Given the description of an element on the screen output the (x, y) to click on. 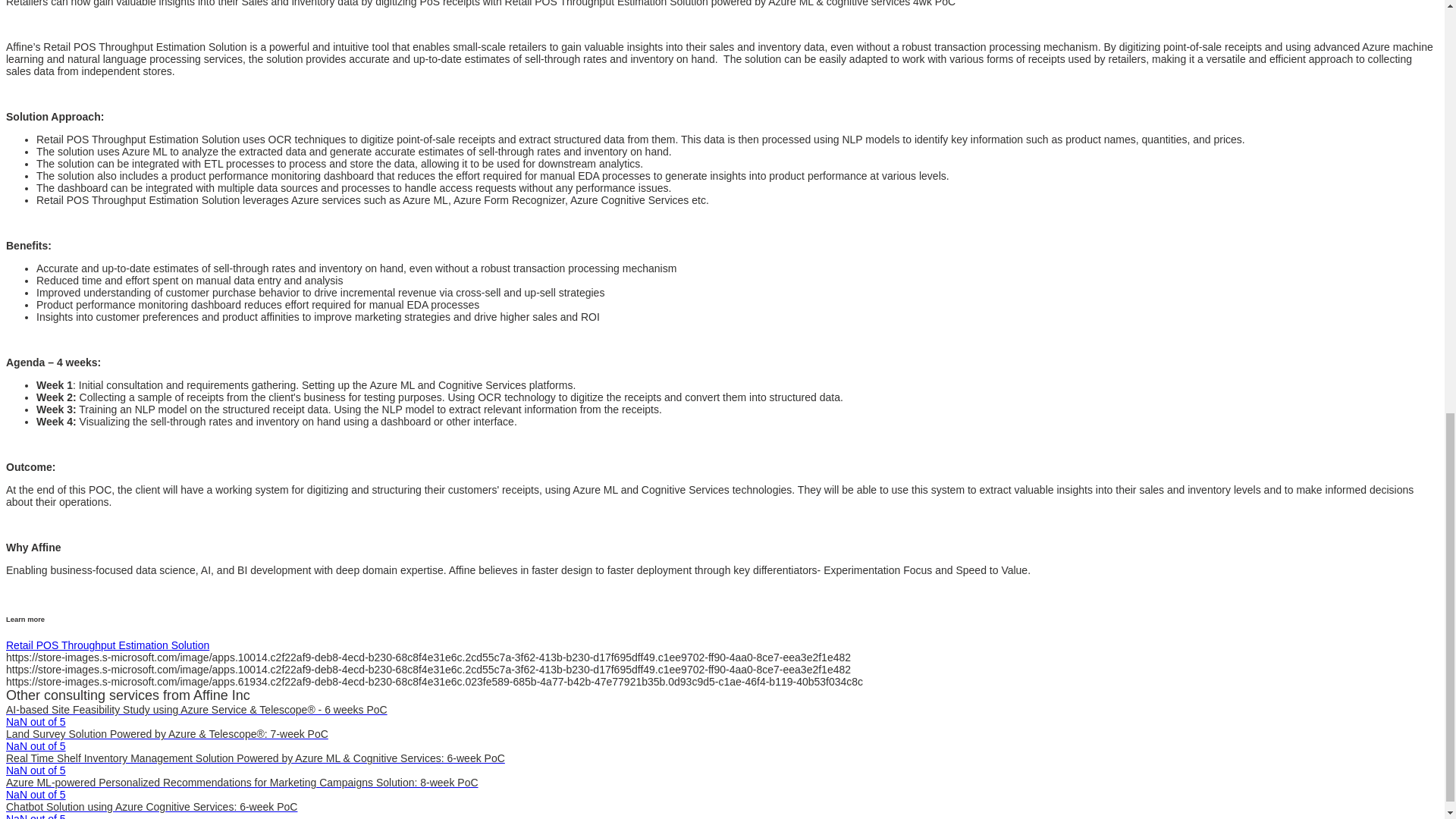
Chatbot Solution using Azure Cognitive Services: 6-week PoC (151, 806)
